Given the description of an element on the screen output the (x, y) to click on. 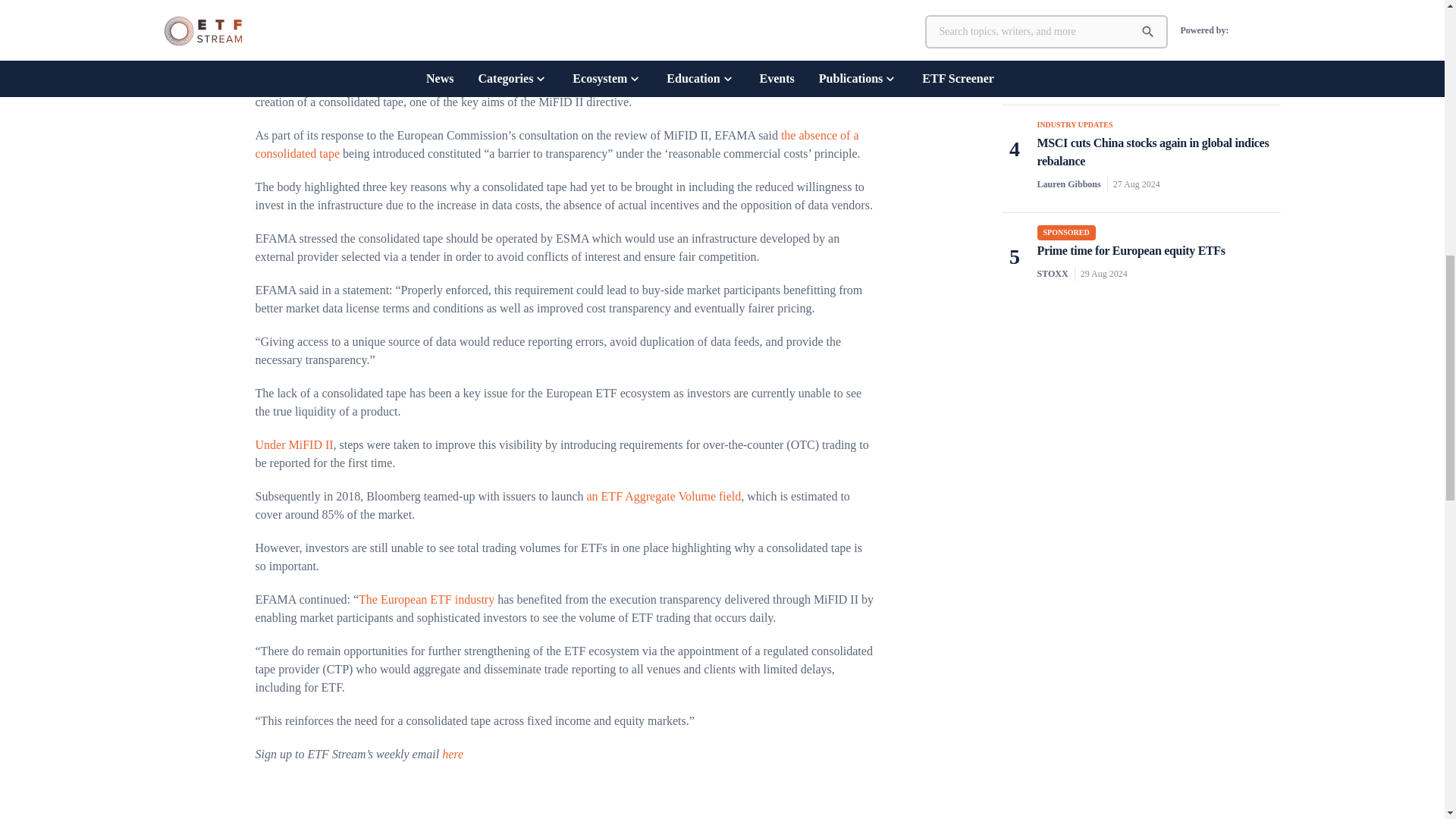
here (452, 753)
an ETF Aggregate Volume field (663, 495)
Under MiFID II (293, 444)
The European ETF industry (426, 599)
the absence of a consolidated tape (556, 143)
